Given the description of an element on the screen output the (x, y) to click on. 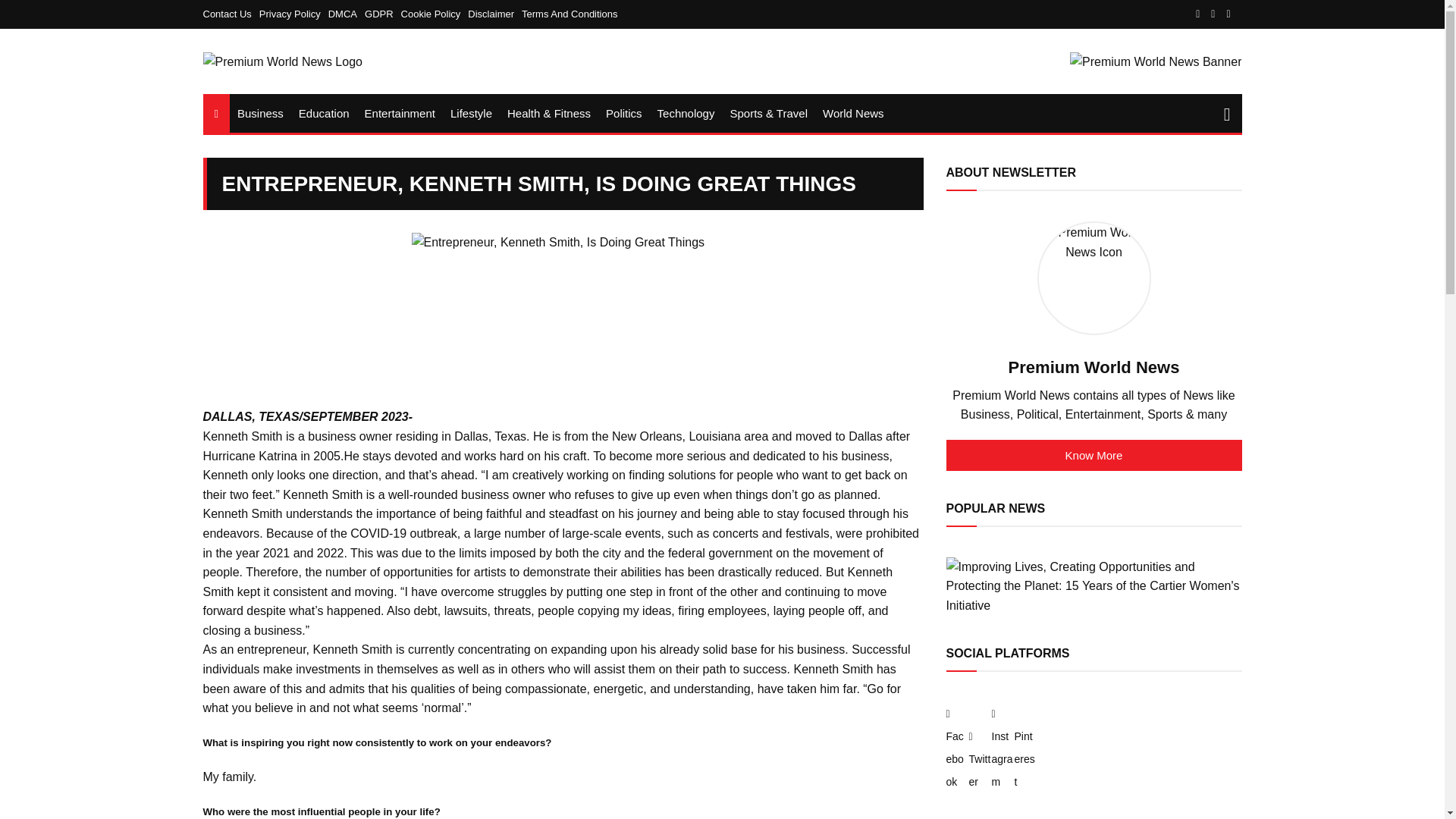
Technology (685, 113)
Lifestyle (470, 113)
Business (260, 113)
Entertainment (399, 113)
Education (323, 113)
Terms And Conditions (569, 13)
Cookie Policy (434, 13)
DMCA (347, 13)
World News (853, 113)
Contact Us (231, 13)
GDPR (383, 13)
Disclaimer (494, 13)
Privacy Policy (294, 13)
Politics (623, 113)
